Given the description of an element on the screen output the (x, y) to click on. 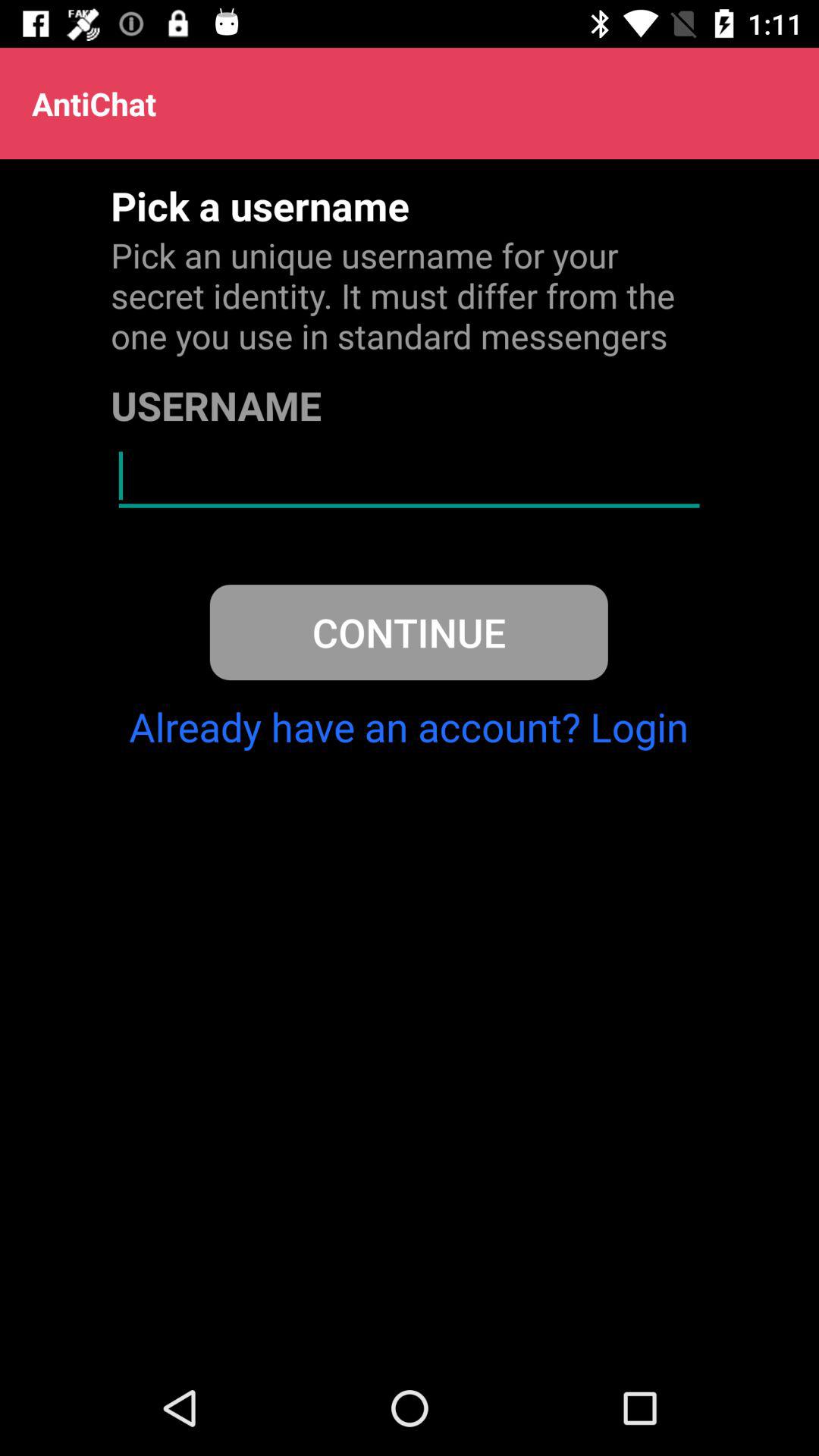
turn off the icon below the continue icon (408, 726)
